Given the description of an element on the screen output the (x, y) to click on. 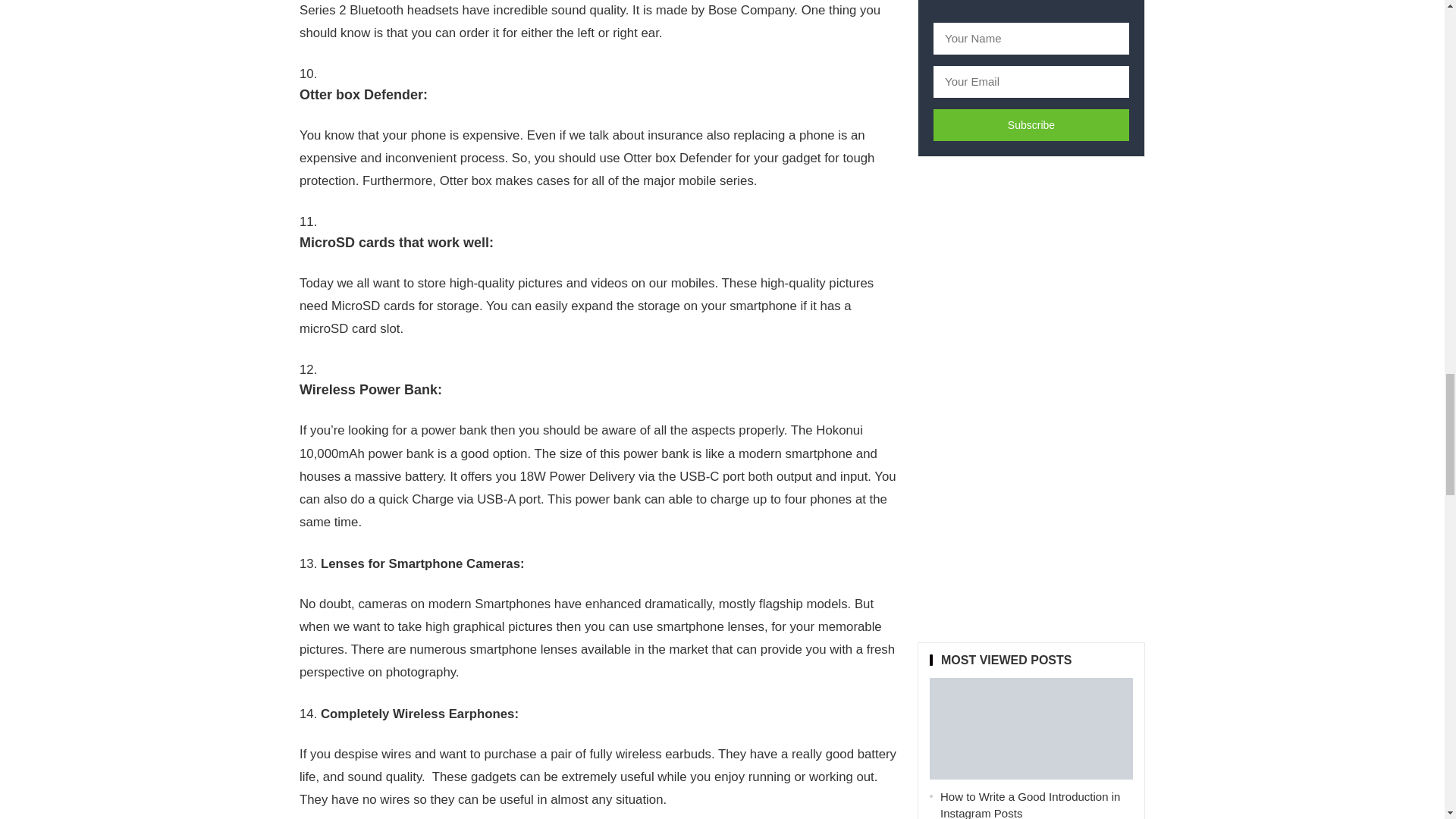
Subscribe (1031, 124)
